Given the description of an element on the screen output the (x, y) to click on. 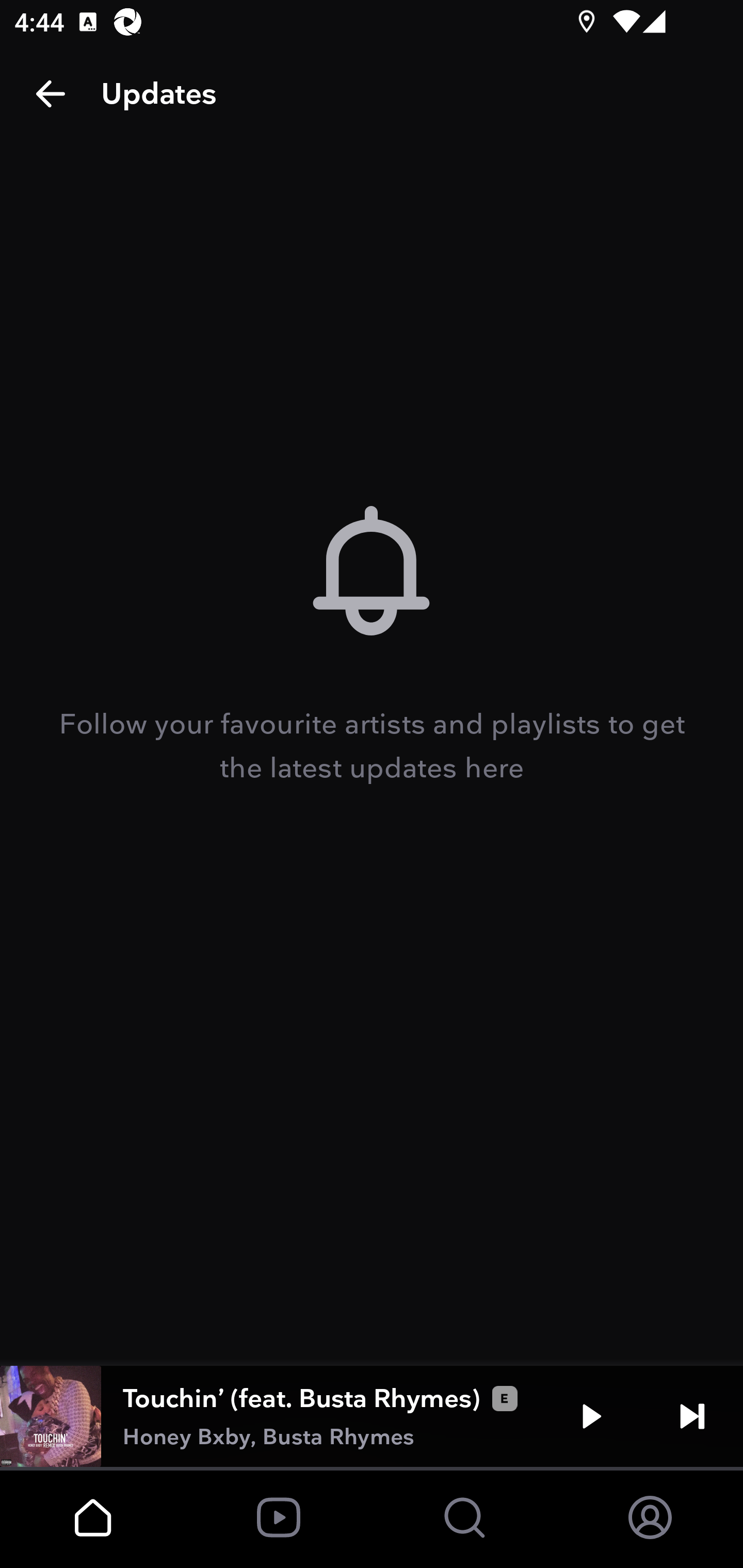
Play (590, 1416)
